Given the description of an element on the screen output the (x, y) to click on. 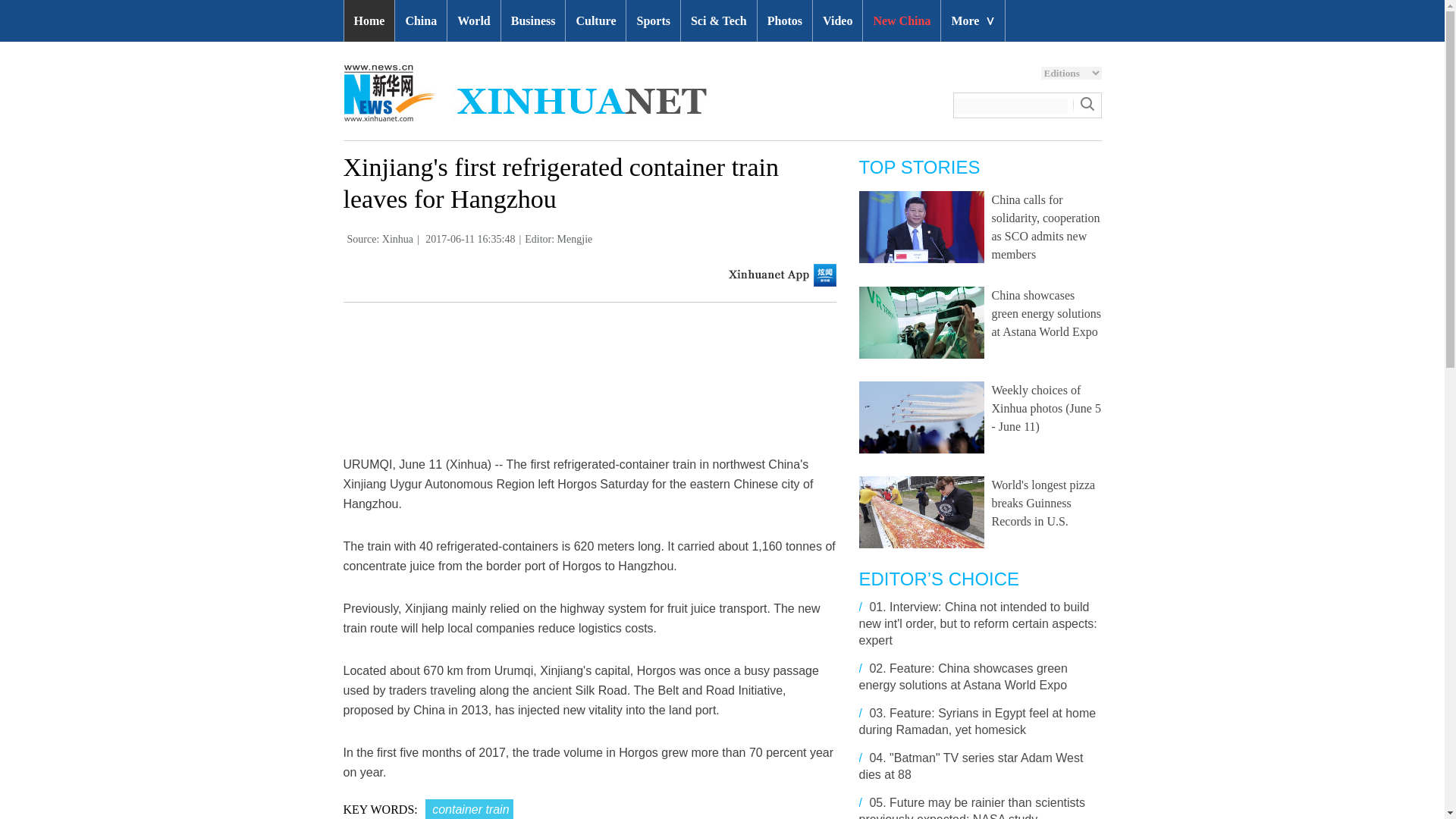
Home (368, 20)
World (473, 20)
Culture (596, 20)
Photos (784, 20)
New China (901, 20)
Business (533, 20)
Video (836, 20)
Sports (652, 20)
China (420, 20)
